Given the description of an element on the screen output the (x, y) to click on. 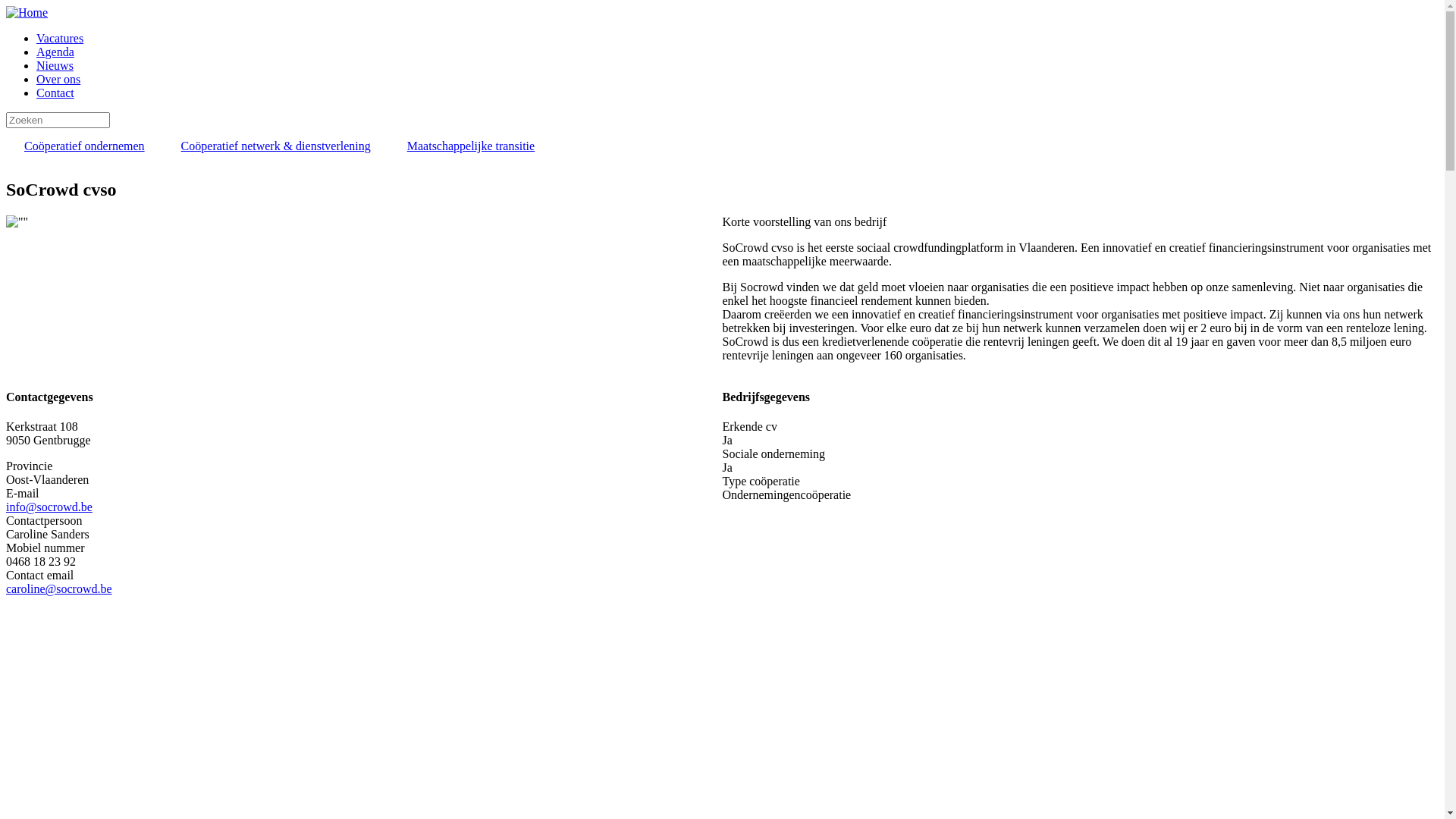
Contact Element type: text (55, 92)
Overslaan en naar de inhoud gaan Element type: text (6, 6)
Vacatures Element type: text (59, 37)
Over ons Element type: text (58, 78)
caroline@socrowd.be Element type: text (59, 588)
Maatschappelijke transitie Element type: text (470, 146)
info@socrowd.be Element type: text (49, 506)
Nieuws Element type: text (54, 65)
Agenda Element type: text (55, 51)
Geef de woorden op waarnaar u wilt zoeken. Element type: hover (57, 120)
